Given the description of an element on the screen output the (x, y) to click on. 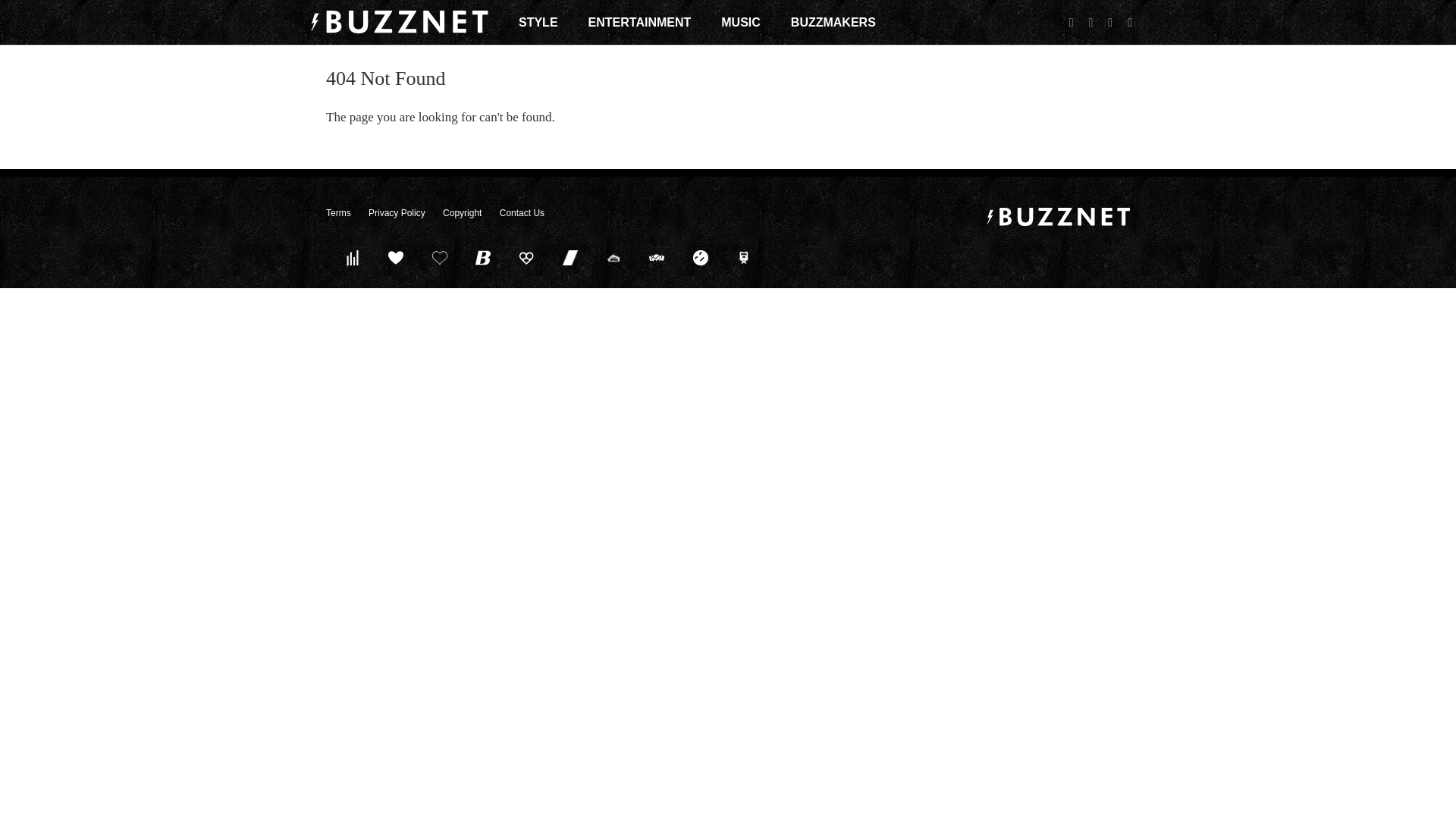
Daily Funny (699, 257)
Contact Us (521, 213)
Quizscape (656, 257)
BleacherBreaker (483, 257)
Copyright (461, 213)
Explored Hollywood (743, 257)
BUZZMAKERS (833, 22)
STYLE (538, 22)
Taco Relish (612, 257)
ENTERTAINMENT (639, 22)
